Given the description of an element on the screen output the (x, y) to click on. 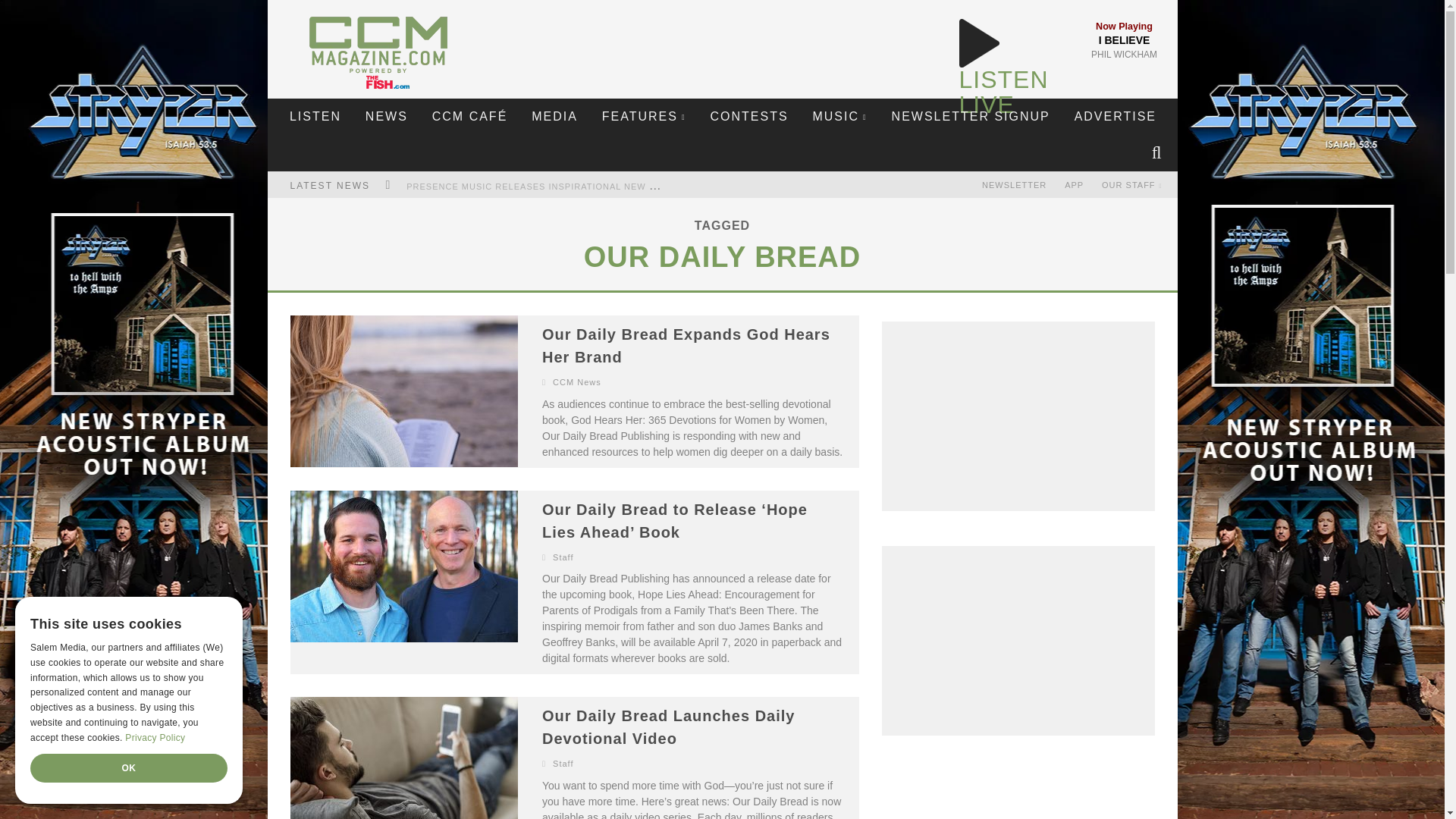
3rd party ad content (722, 41)
3rd party ad content (1017, 794)
3rd party ad content (1017, 640)
LISTEN LIVE (1003, 91)
NEWS (386, 116)
3rd party ad content (1017, 416)
LISTEN (315, 116)
Search (1158, 153)
